Given the description of an element on the screen output the (x, y) to click on. 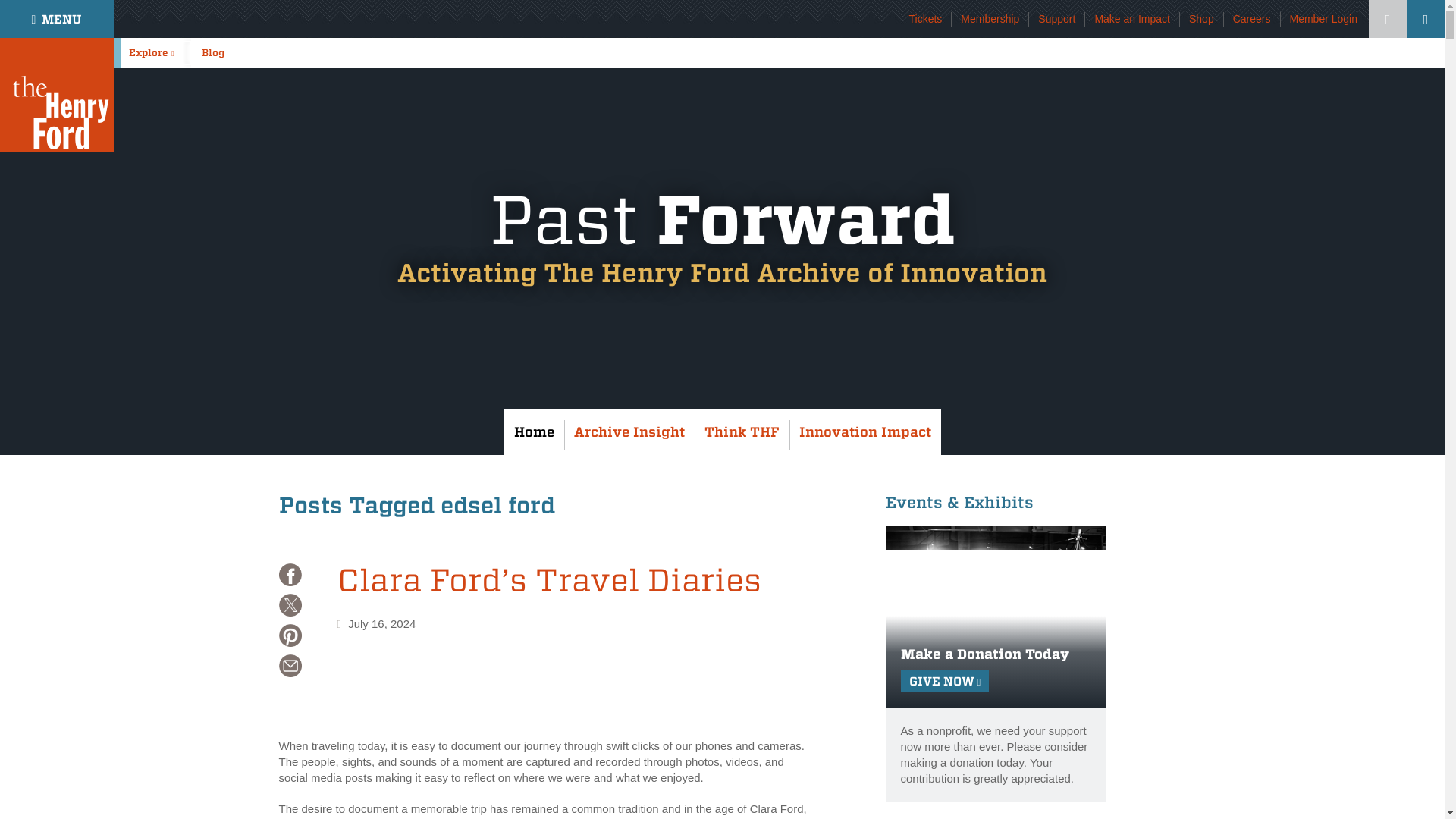
Blog (220, 52)
Member Login (1322, 19)
Membership (989, 19)
Explore (155, 52)
Support (1056, 19)
Shop (1201, 19)
Make an Impact (1132, 19)
Careers (1252, 19)
Tickets (925, 19)
MENU (56, 18)
